Given the description of an element on the screen output the (x, y) to click on. 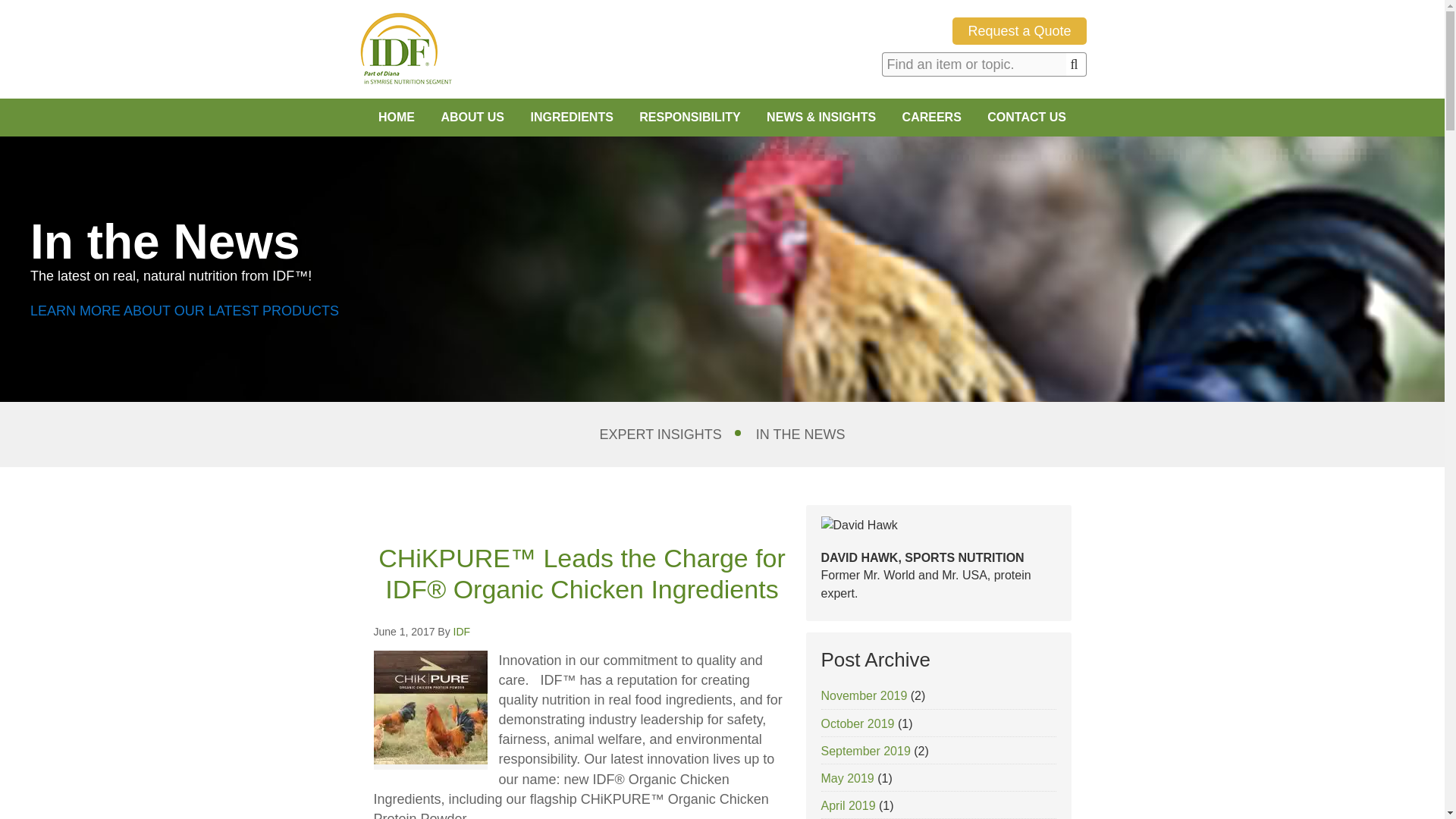
RESPONSIBILITY (689, 117)
IDF (461, 631)
EXPERT INSIGHTS (659, 434)
Request a Quote (1019, 31)
HOME (396, 117)
IDF (405, 48)
CAREERS (931, 117)
INGREDIENTS (571, 117)
CONTACT US (1026, 117)
IN THE NEWS (800, 434)
